Given the description of an element on the screen output the (x, y) to click on. 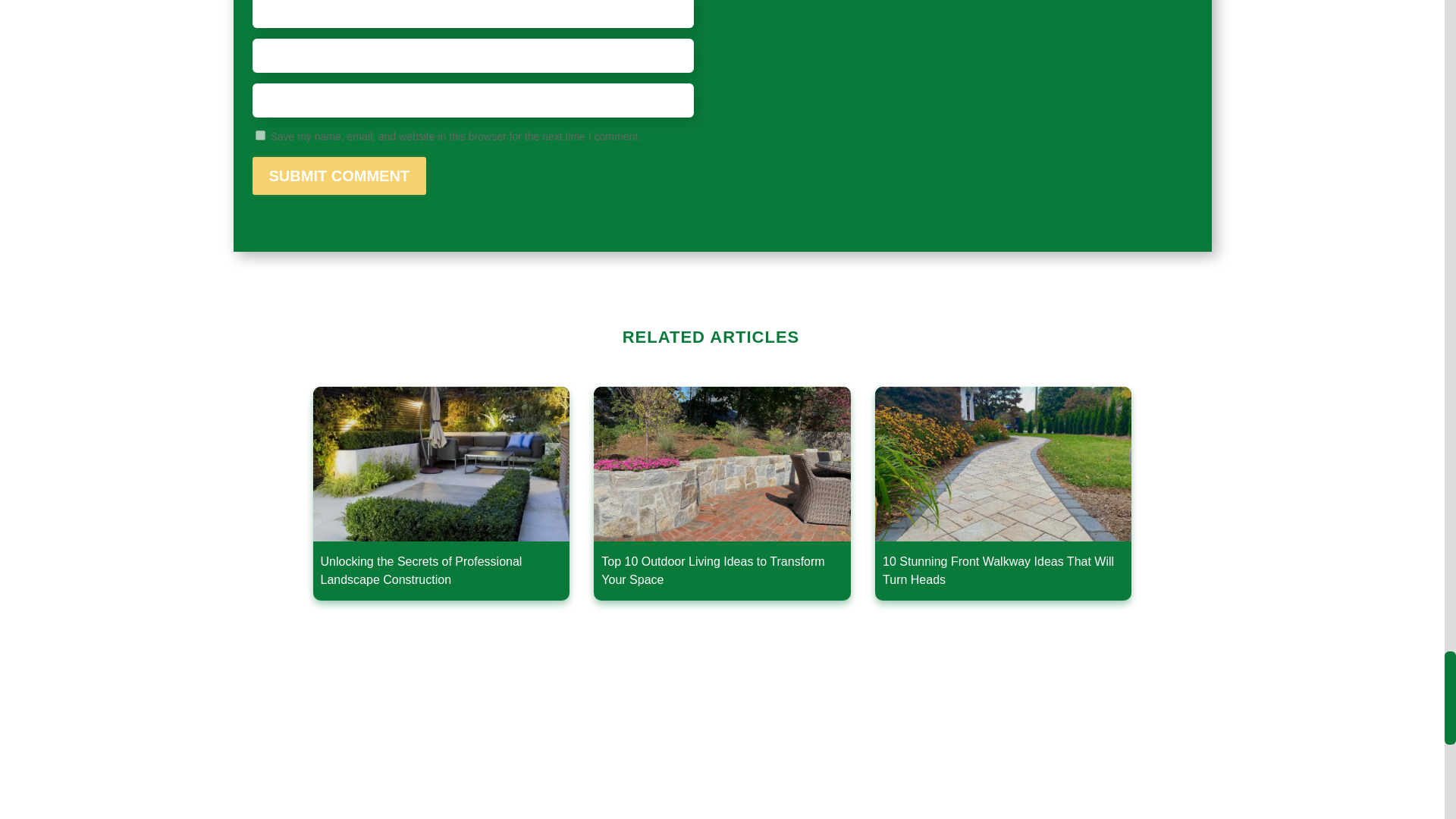
yes (259, 135)
Unlocking the Secrets of Professional Landscape Construction (441, 493)
